Given the description of an element on the screen output the (x, y) to click on. 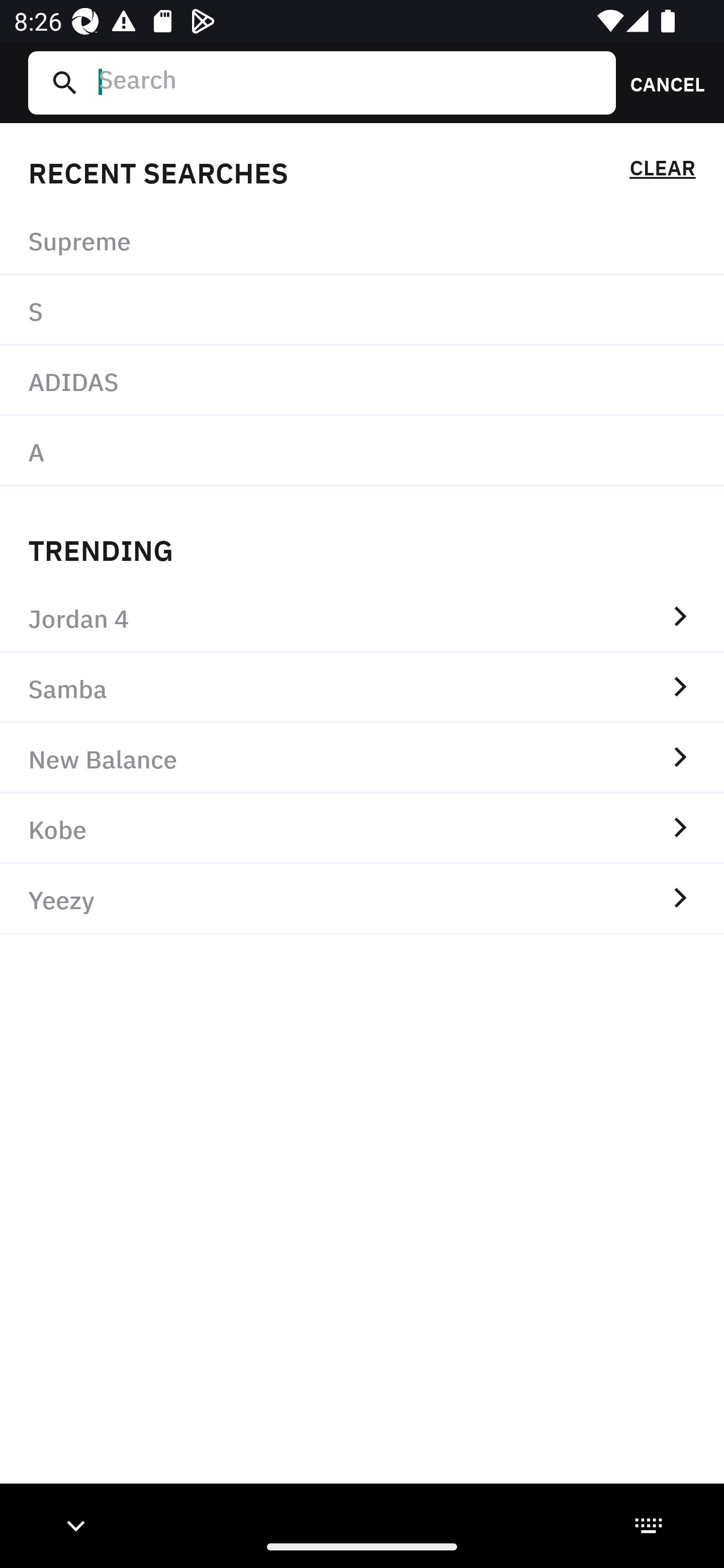
CANCEL (660, 82)
Search (349, 82)
CLEAR (662, 170)
Supreme (362, 240)
S (362, 310)
ADIDAS (362, 380)
A (362, 450)
Jordan 4  (362, 616)
Samba  (362, 687)
New Balance  (362, 757)
Kobe  (362, 828)
Yeezy  (362, 898)
